Given the description of an element on the screen output the (x, y) to click on. 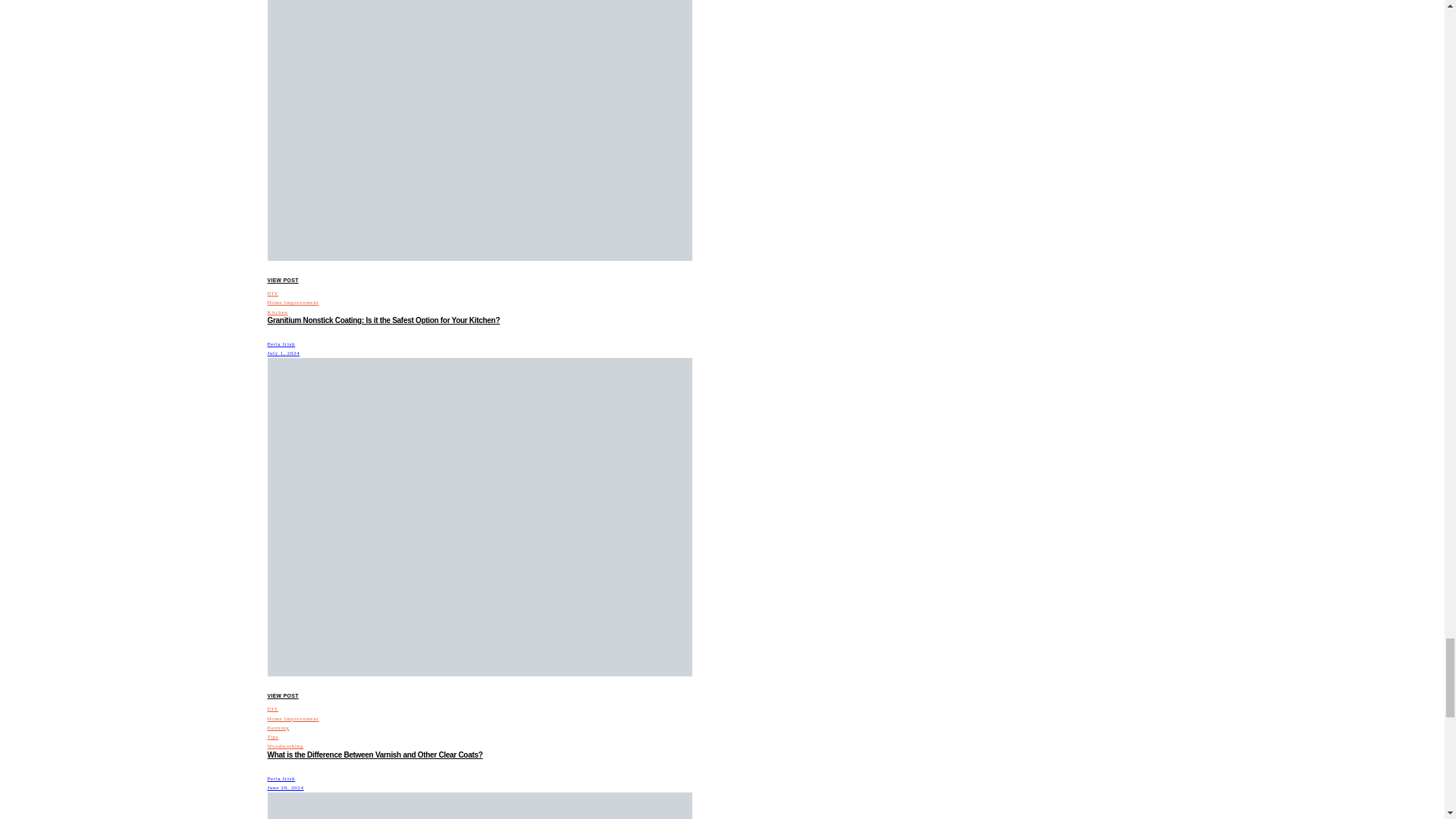
View all posts by Perla Irish (280, 778)
View all posts by Perla Irish (280, 344)
